Given the description of an element on the screen output the (x, y) to click on. 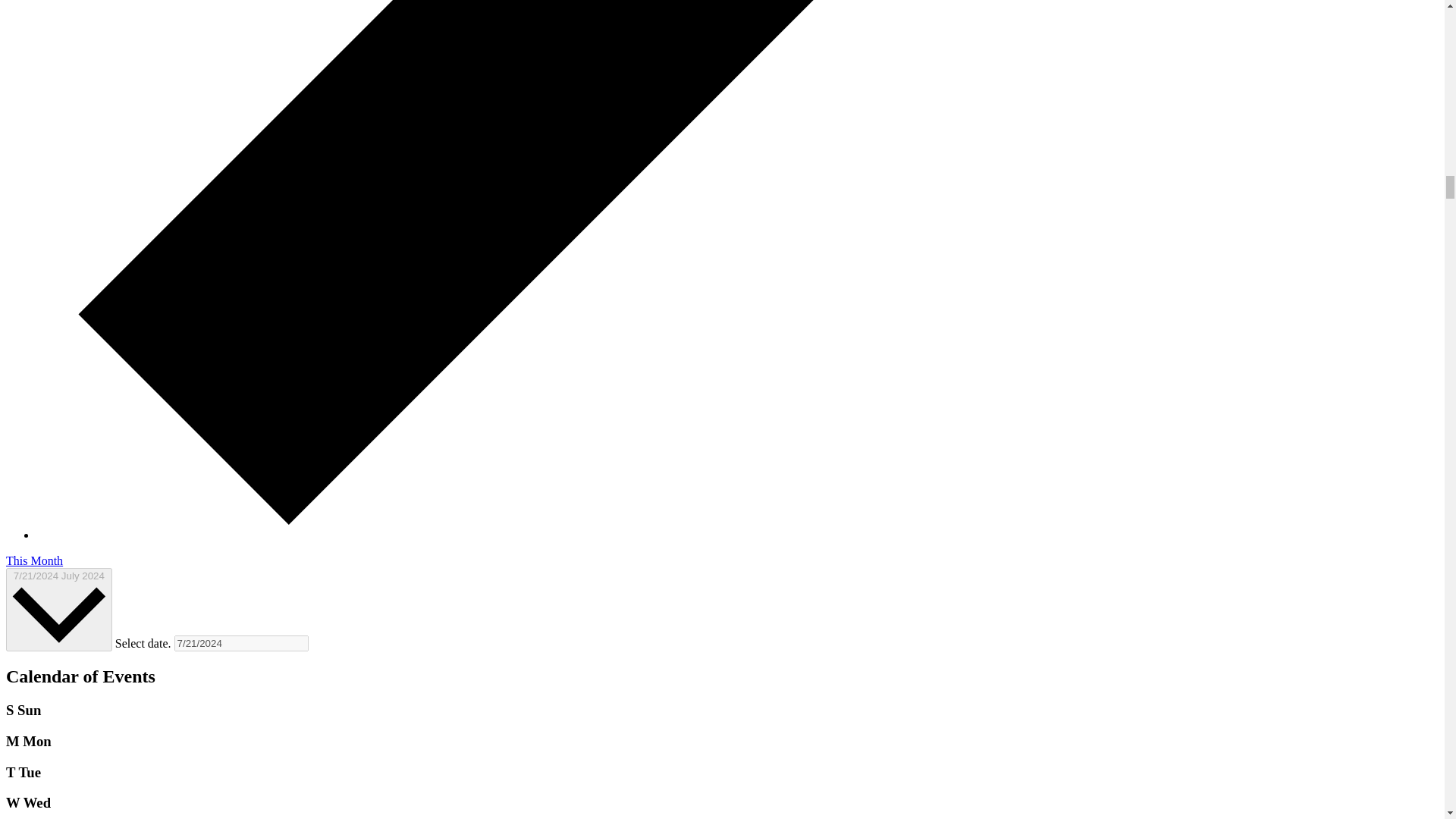
Click to toggle datepicker (58, 609)
This Month (33, 560)
Click to select the current month (33, 560)
